Given the description of an element on the screen output the (x, y) to click on. 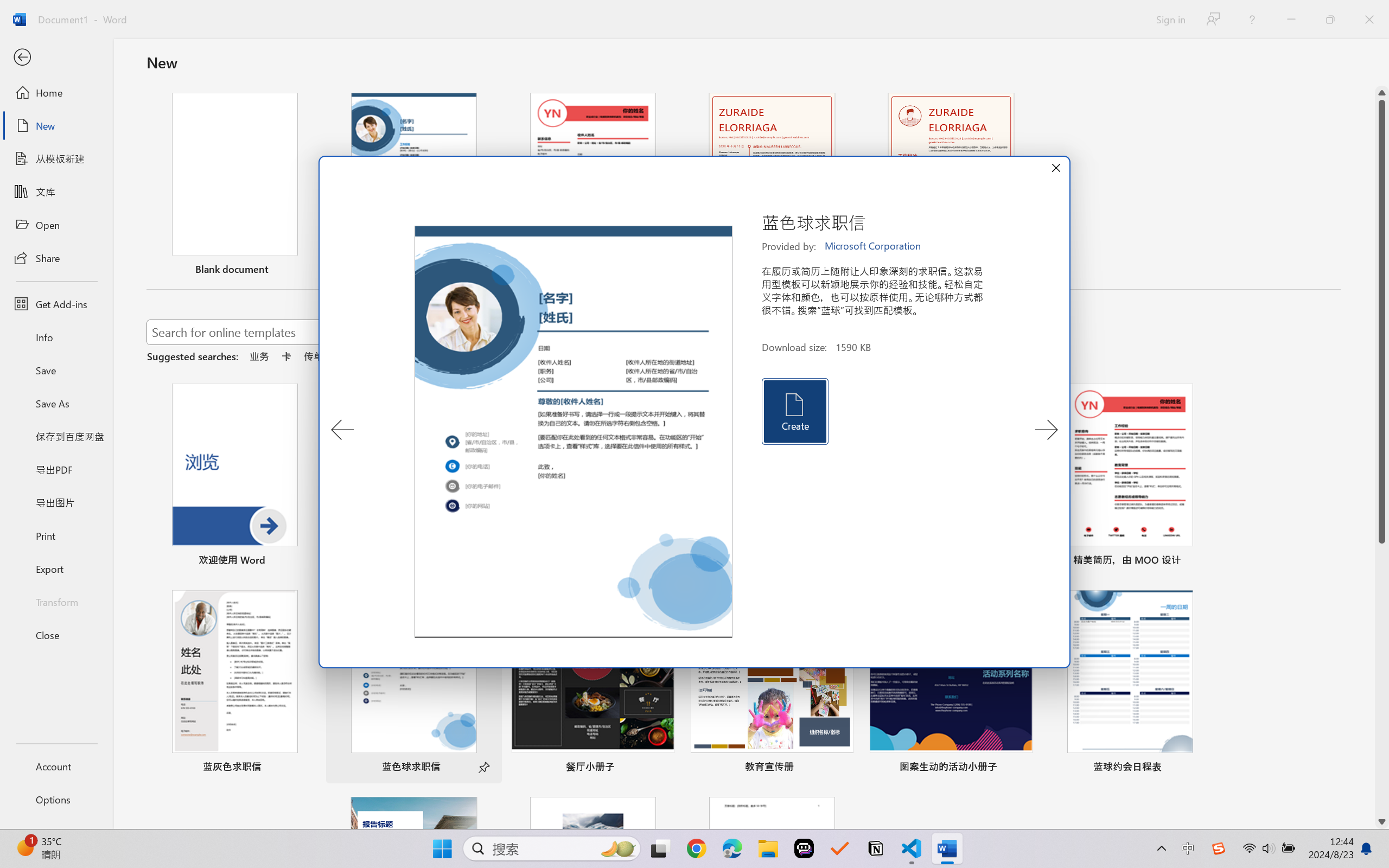
Create (794, 411)
Info (56, 337)
Get Add-ins (56, 303)
